Given the description of an element on the screen output the (x, y) to click on. 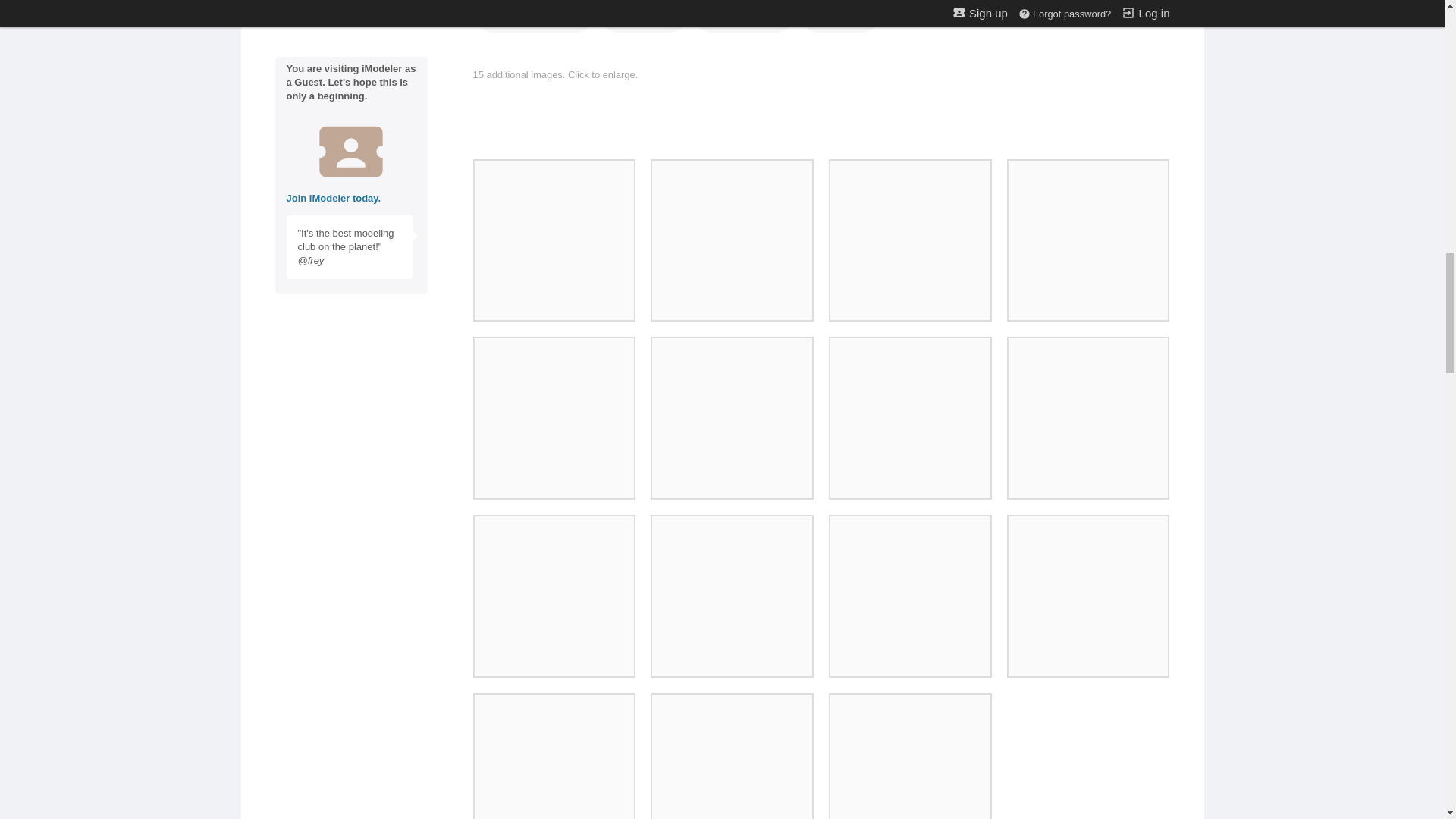
Great effort! (534, 16)
I'm fond of this (643, 16)
I learned something! (743, 16)
LOVED (643, 16)
WOW (839, 16)
HELPFUL (743, 16)
Amazing! (839, 16)
4  AWESOME (534, 16)
